Given the description of an element on the screen output the (x, y) to click on. 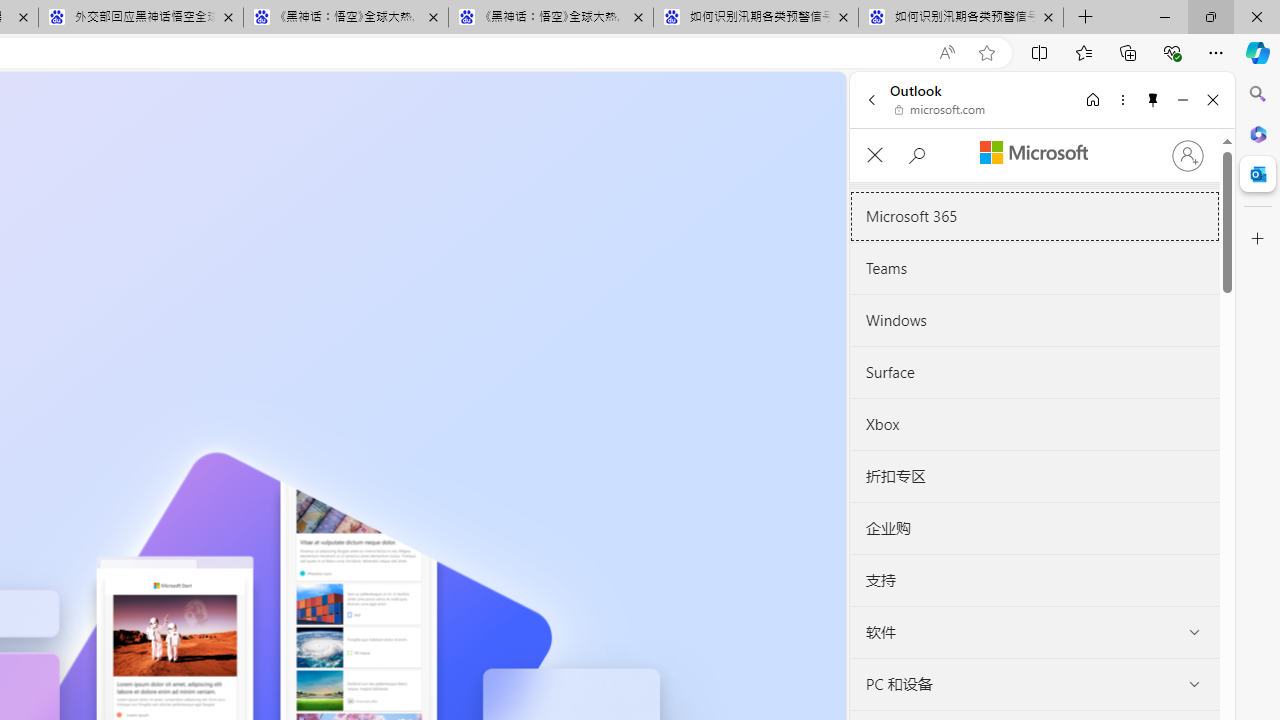
Xbox (1034, 424)
microsoft.com (940, 110)
Windows (1034, 319)
